Given the description of an element on the screen output the (x, y) to click on. 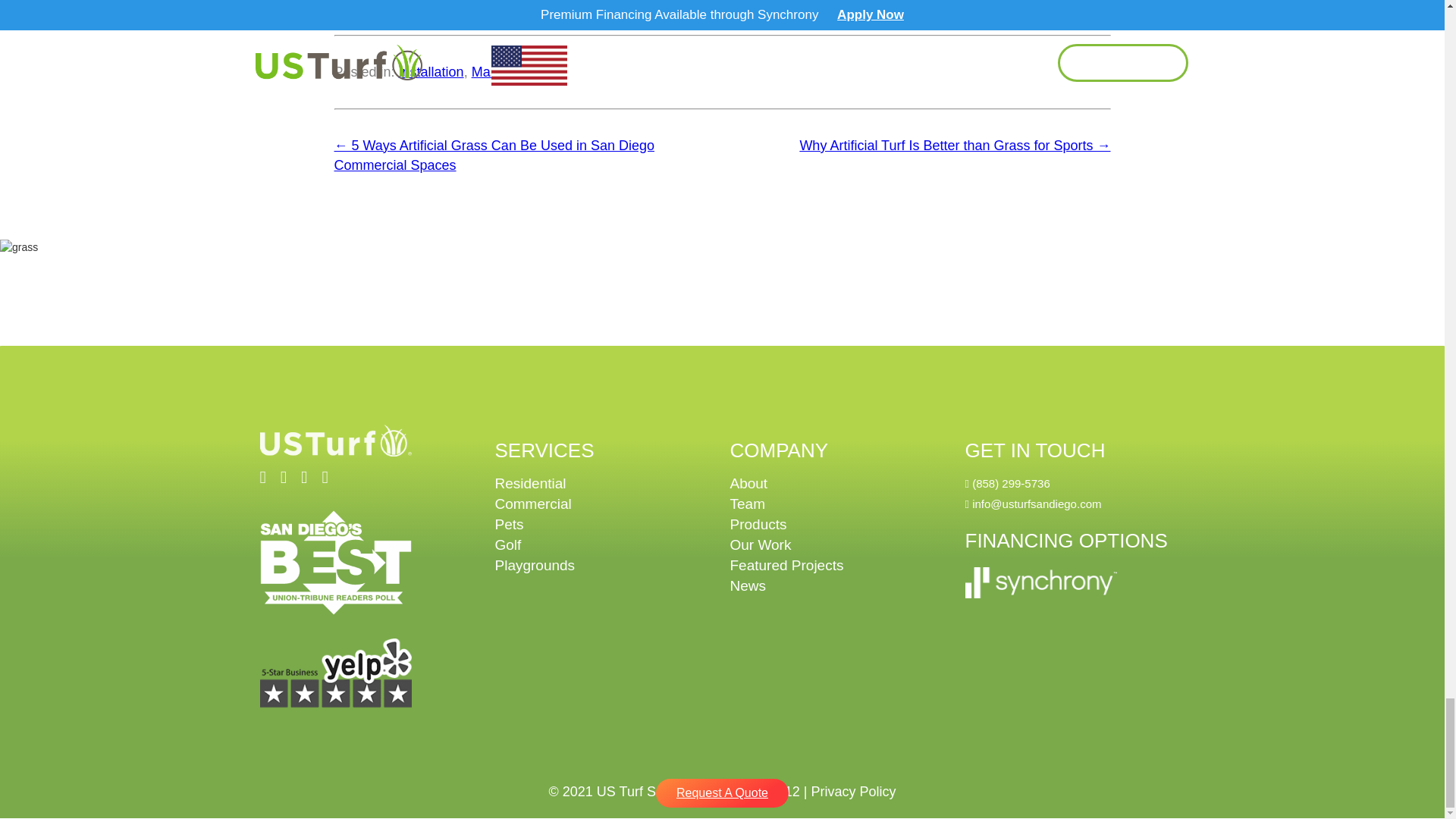
Maintenance (510, 71)
Installation (431, 71)
Why Artificial Turf Is Better than Grass for Sports (954, 145)
